Given the description of an element on the screen output the (x, y) to click on. 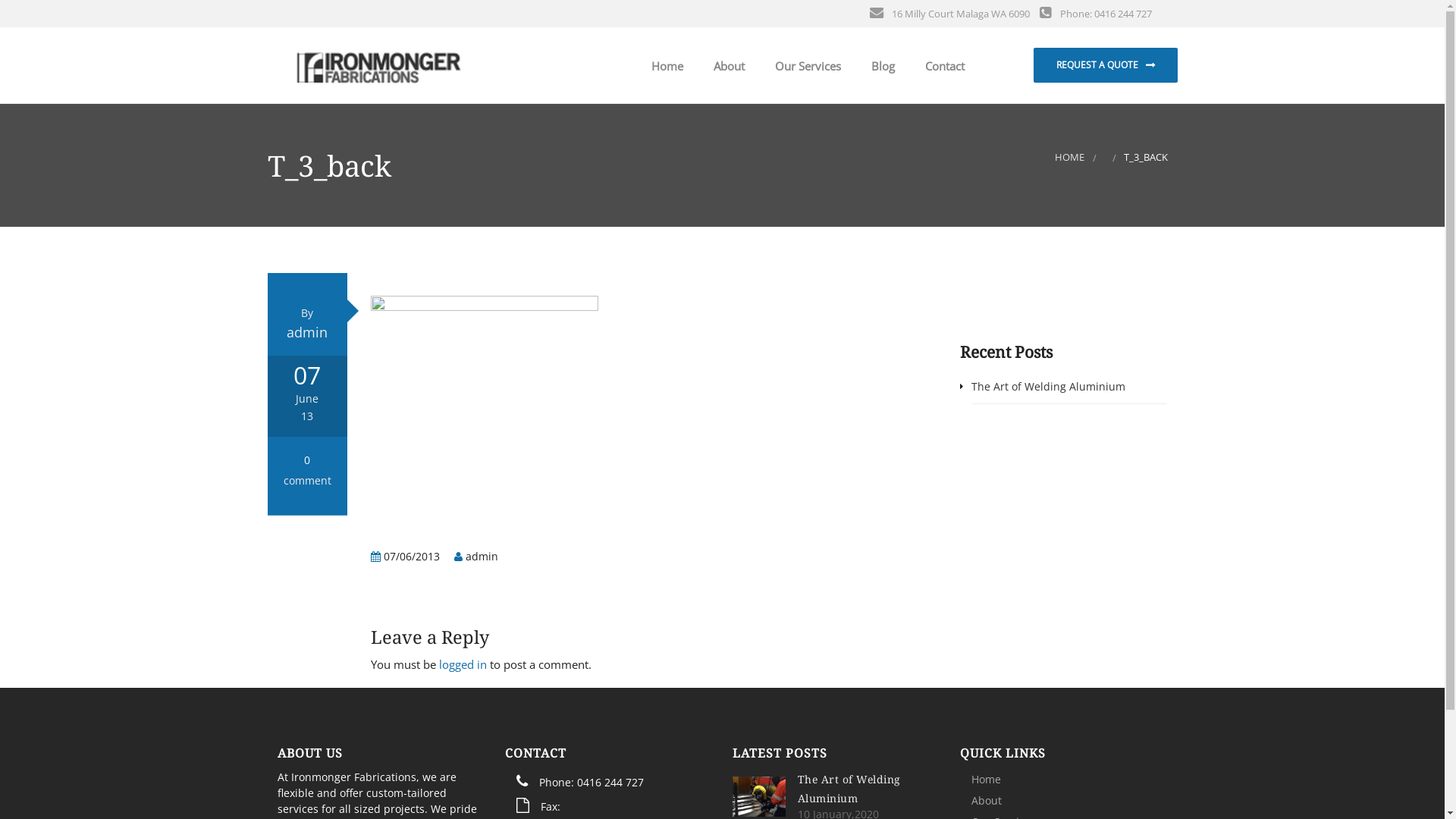
The Art of Welding Aluminium Element type: text (1048, 386)
Ironmonger Fabrications Element type: hover (378, 64)
Home Element type: text (986, 778)
Home Element type: text (663, 65)
Blog Element type: text (879, 65)
HOME Element type: text (1069, 156)
About Element type: text (986, 800)
Our Services Element type: text (804, 65)
About Element type: text (725, 65)
logged in Element type: text (462, 663)
Custom Welding & Fabrication Element type: text (811, 189)
REQUEST A QUOTE Element type: text (1104, 64)
Welding Element type: text (811, 114)
Fabrication Element type: text (811, 152)
Contact Element type: text (941, 65)
The Art of Welding Aluminium Element type: text (848, 788)
